Given the description of an element on the screen output the (x, y) to click on. 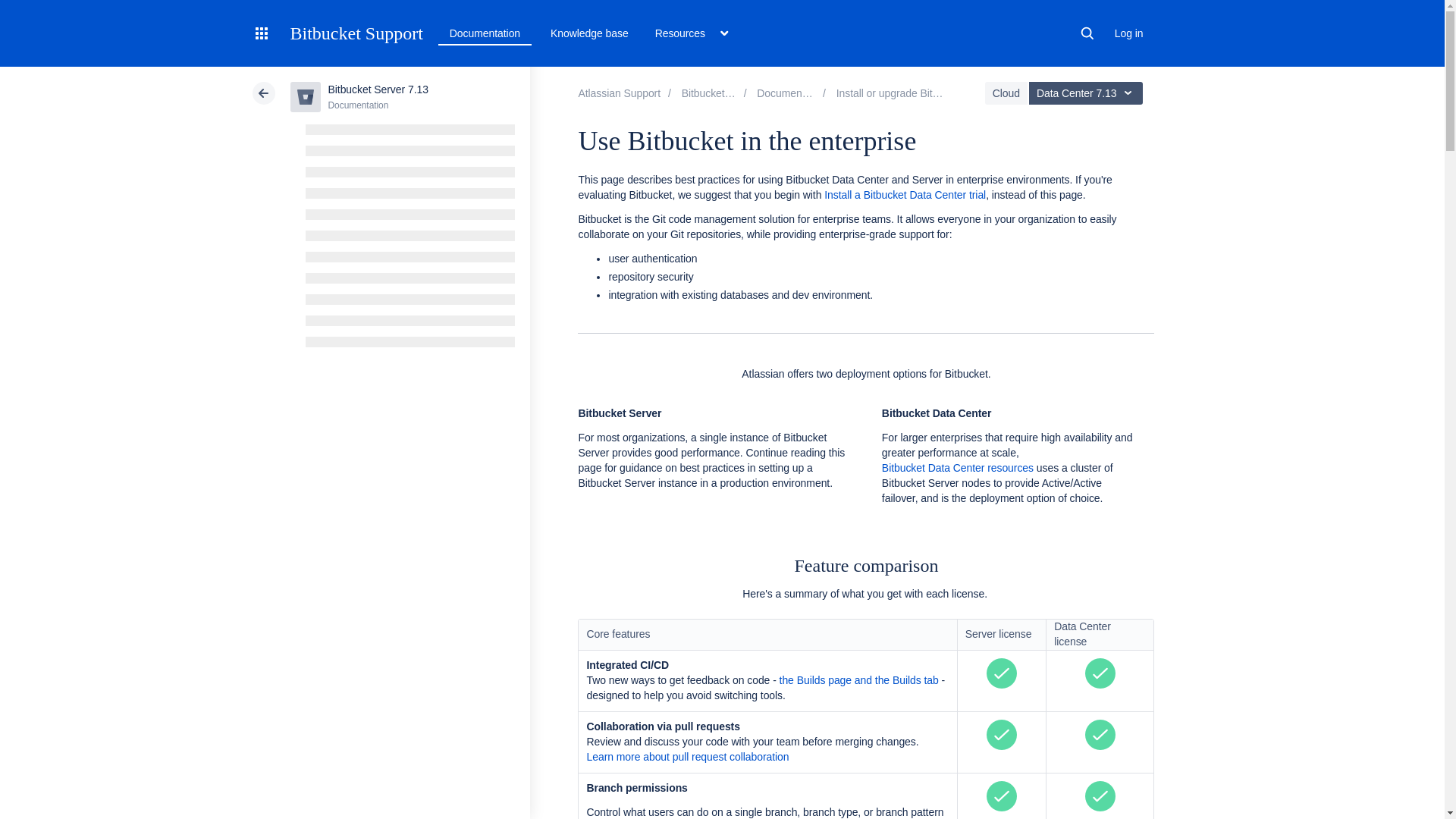
Bitbucket (714, 92)
Install or upgrade Bitbucket (899, 92)
Bitbucket Support (355, 33)
Knowledge base (589, 33)
Search (1087, 33)
Documentation (484, 33)
Atlassian Support (619, 92)
Log in (1128, 33)
Bitbucket Server 7.13 (792, 92)
